Given the description of an element on the screen output the (x, y) to click on. 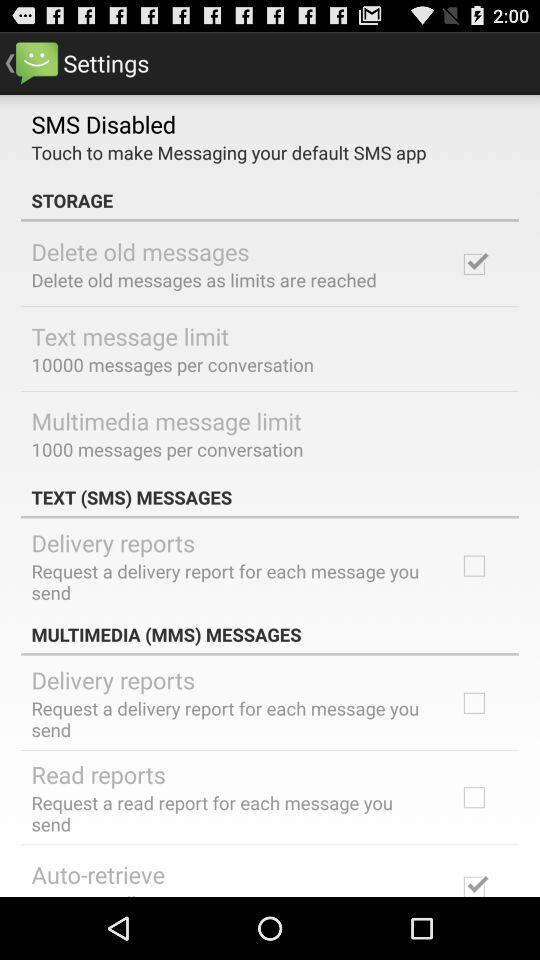
choose the icon below the request a delivery icon (98, 774)
